Given the description of an element on the screen output the (x, y) to click on. 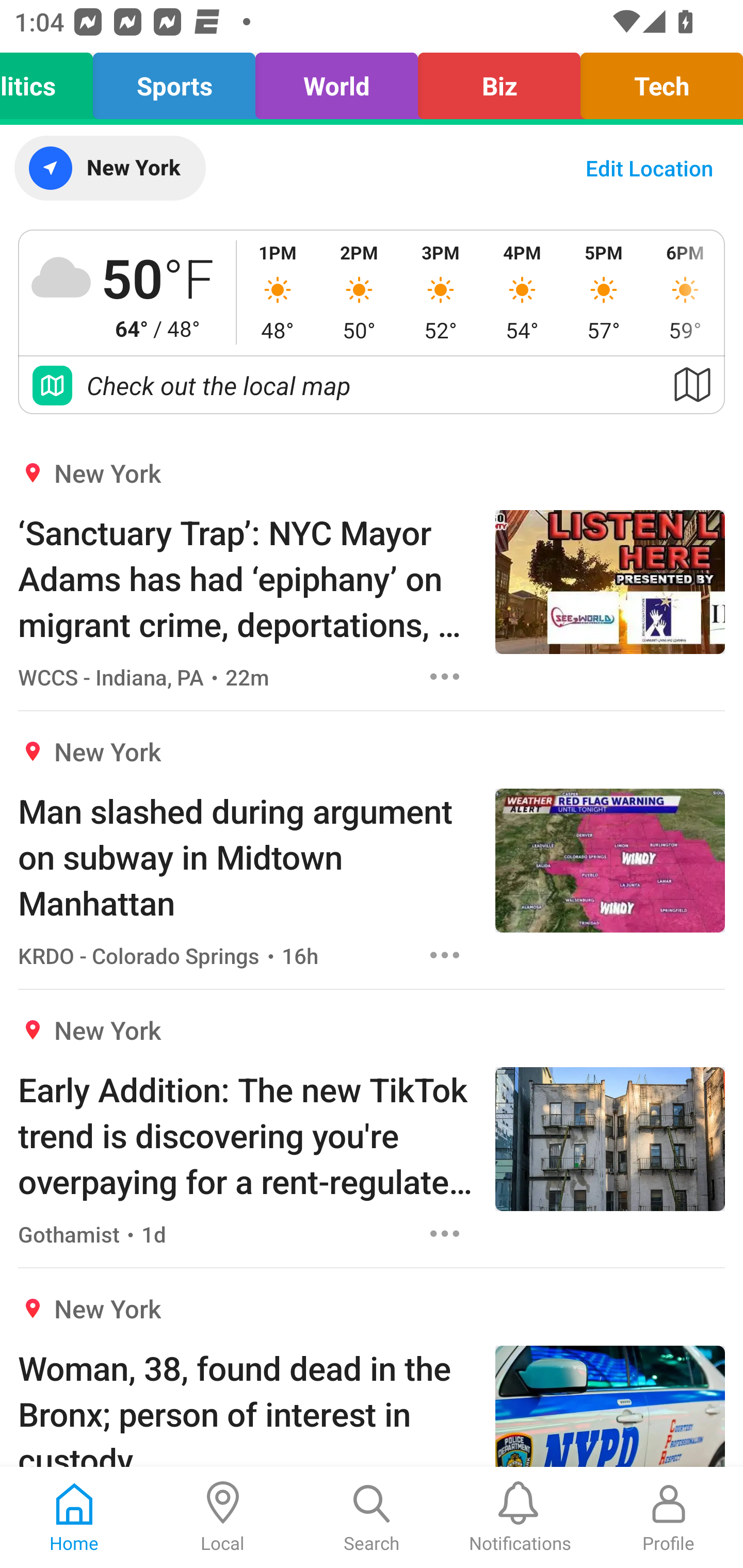
Sports (173, 81)
World (336, 81)
Biz (499, 81)
Tech (656, 81)
New York (109, 168)
Edit Location (648, 168)
1PM 48° (277, 291)
2PM 50° (358, 291)
3PM 52° (440, 291)
4PM 54° (522, 291)
5PM 57° (603, 291)
6PM 59° (684, 291)
Check out the local map (371, 384)
Options (444, 676)
Options (444, 954)
Options (444, 1233)
Local (222, 1517)
Search (371, 1517)
Notifications (519, 1517)
Profile (668, 1517)
